Given the description of an element on the screen output the (x, y) to click on. 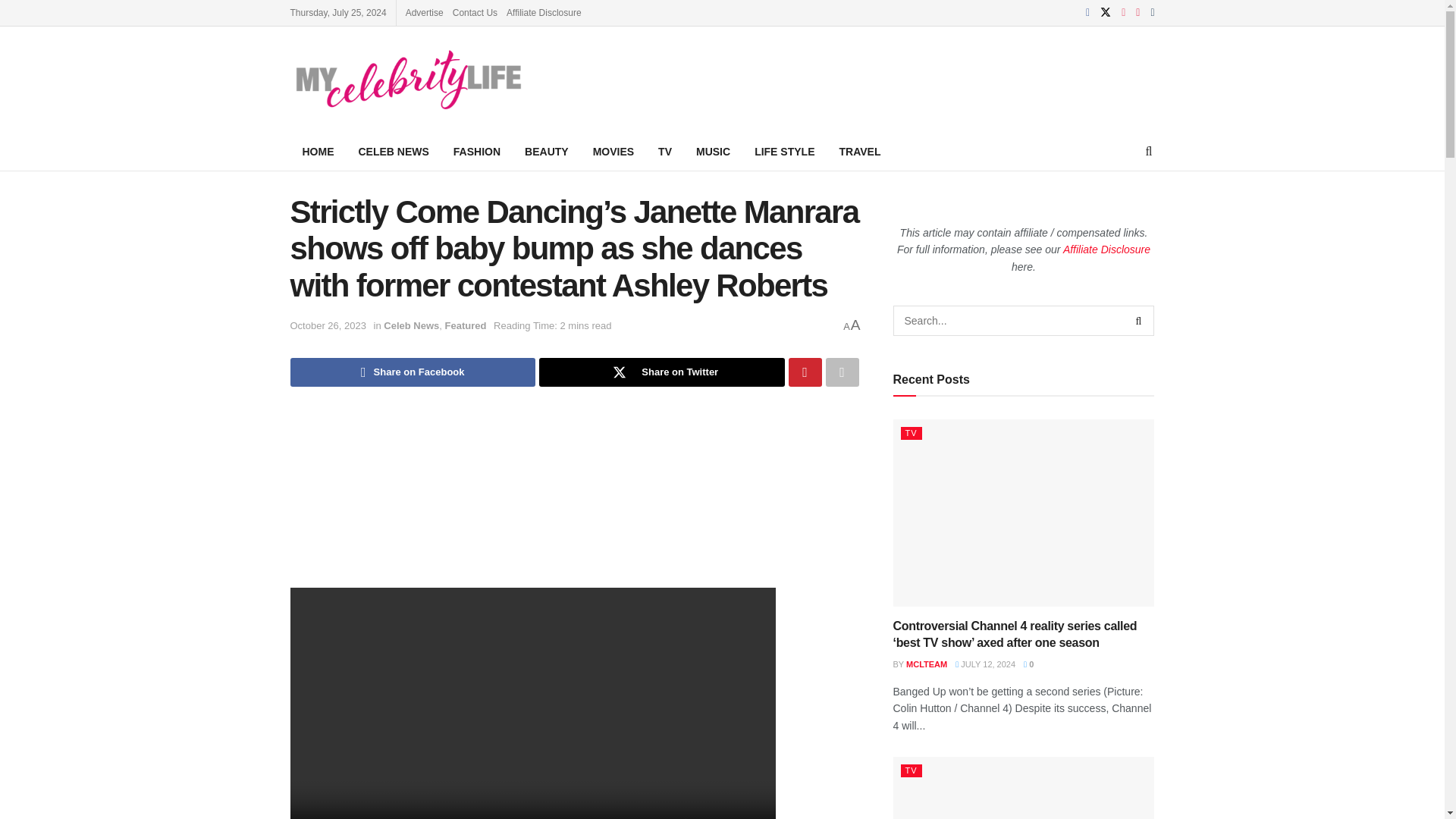
MOVIES (613, 151)
Affiliate Disclosure (543, 12)
TRAVEL (859, 151)
Advertise (425, 12)
Celeb News (411, 325)
BEAUTY (546, 151)
TV (665, 151)
CELEB NEWS (393, 151)
Contact Us (474, 12)
HOME (317, 151)
FASHION (476, 151)
Featured (465, 325)
LIFE STYLE (784, 151)
MUSIC (713, 151)
October 26, 2023 (327, 325)
